Given the description of an element on the screen output the (x, y) to click on. 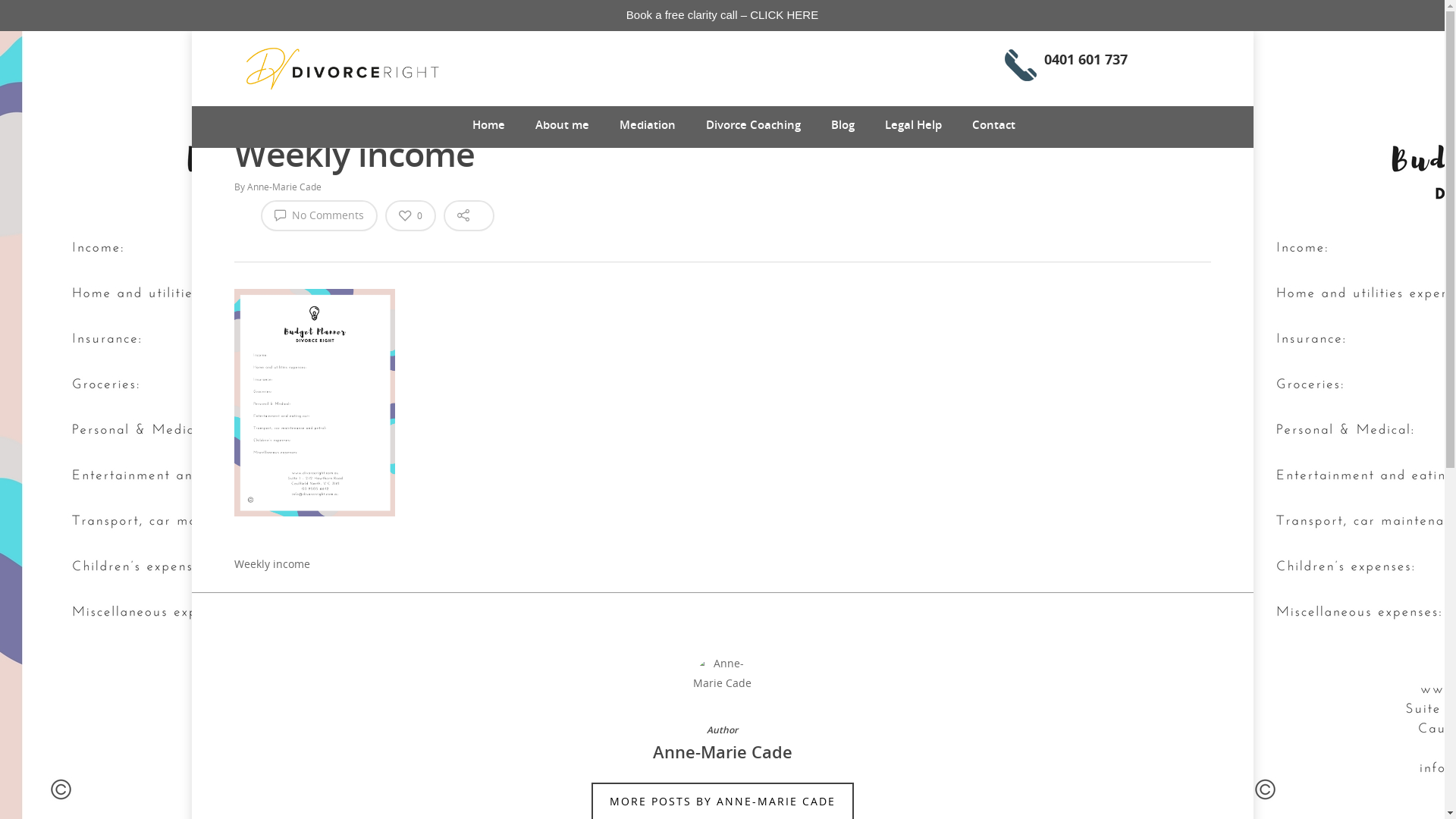
No Comments Element type: text (318, 215)
Mediation Element type: text (646, 125)
Legal Help Element type: text (912, 125)
Divorce Coaching Element type: text (752, 125)
Contact Element type: text (993, 125)
Blog Element type: text (842, 125)
Anne-Marie Cade Element type: text (284, 186)
0401 601 737 Element type: text (1065, 70)
Home Element type: text (487, 125)
About me Element type: text (562, 125)
0 Element type: text (410, 215)
